Given the description of an element on the screen output the (x, y) to click on. 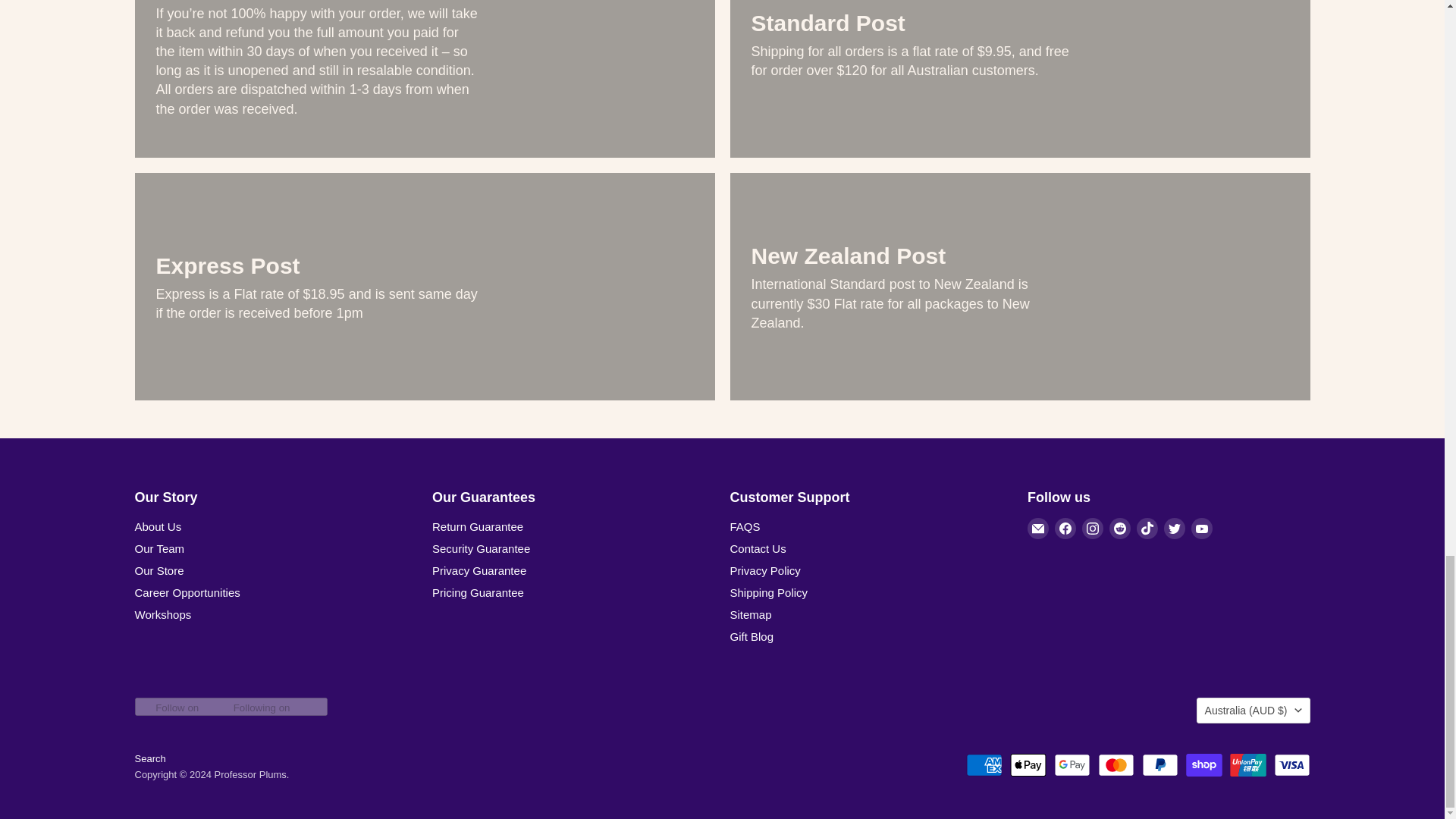
Email (1037, 527)
Facebook (1064, 527)
Reddit (1120, 527)
TikTok (1147, 527)
Twitter (1174, 527)
Instagram (1092, 527)
YouTube (1201, 527)
